Given the description of an element on the screen output the (x, y) to click on. 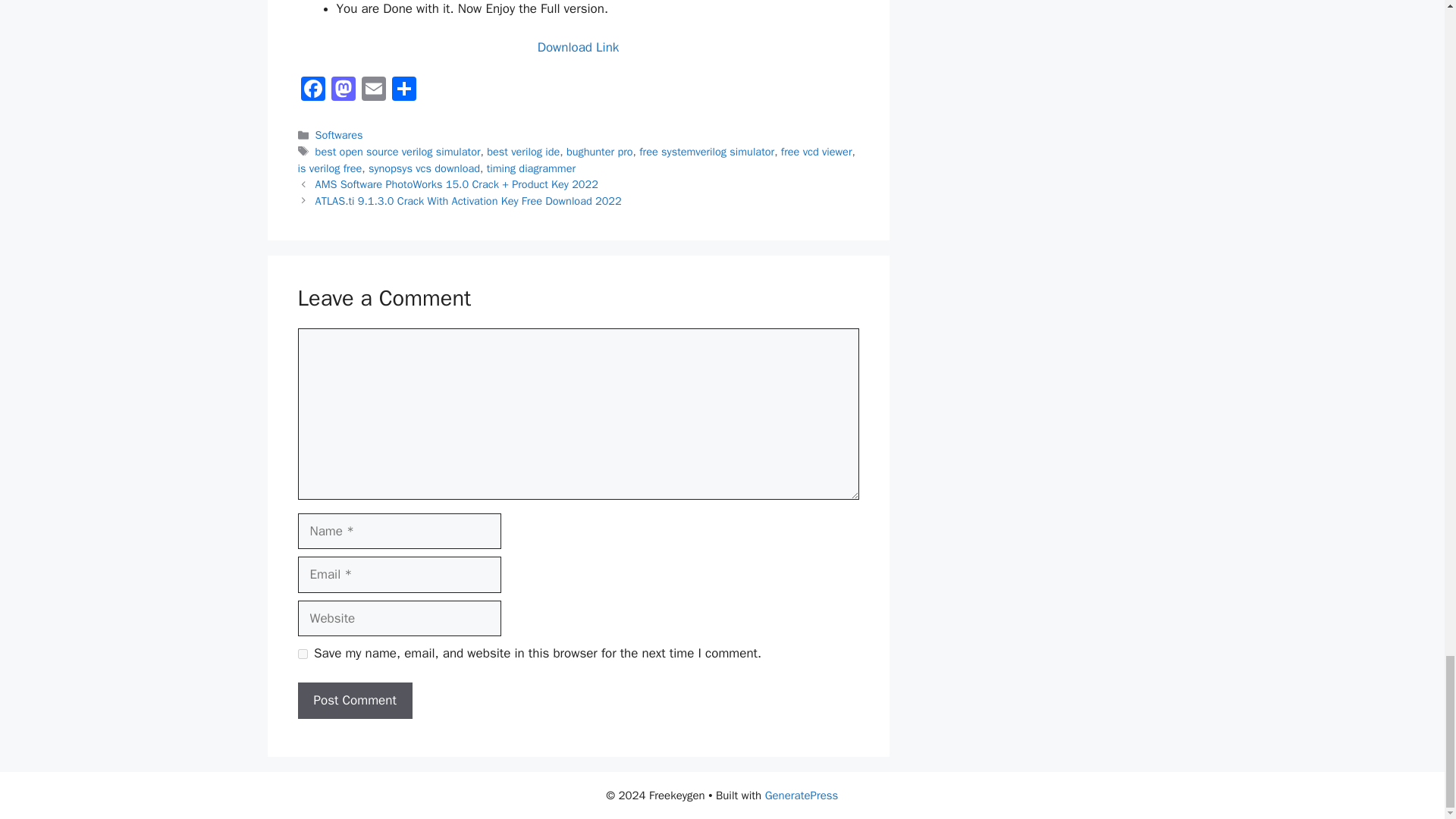
bughunter pro (599, 151)
timing diagrammer (530, 168)
best verilog ide (522, 151)
Mastodon (342, 90)
yes (302, 654)
synopsys vcs download (424, 168)
free systemverilog simulator (706, 151)
Email (373, 90)
Mastodon (342, 90)
